Given the description of an element on the screen output the (x, y) to click on. 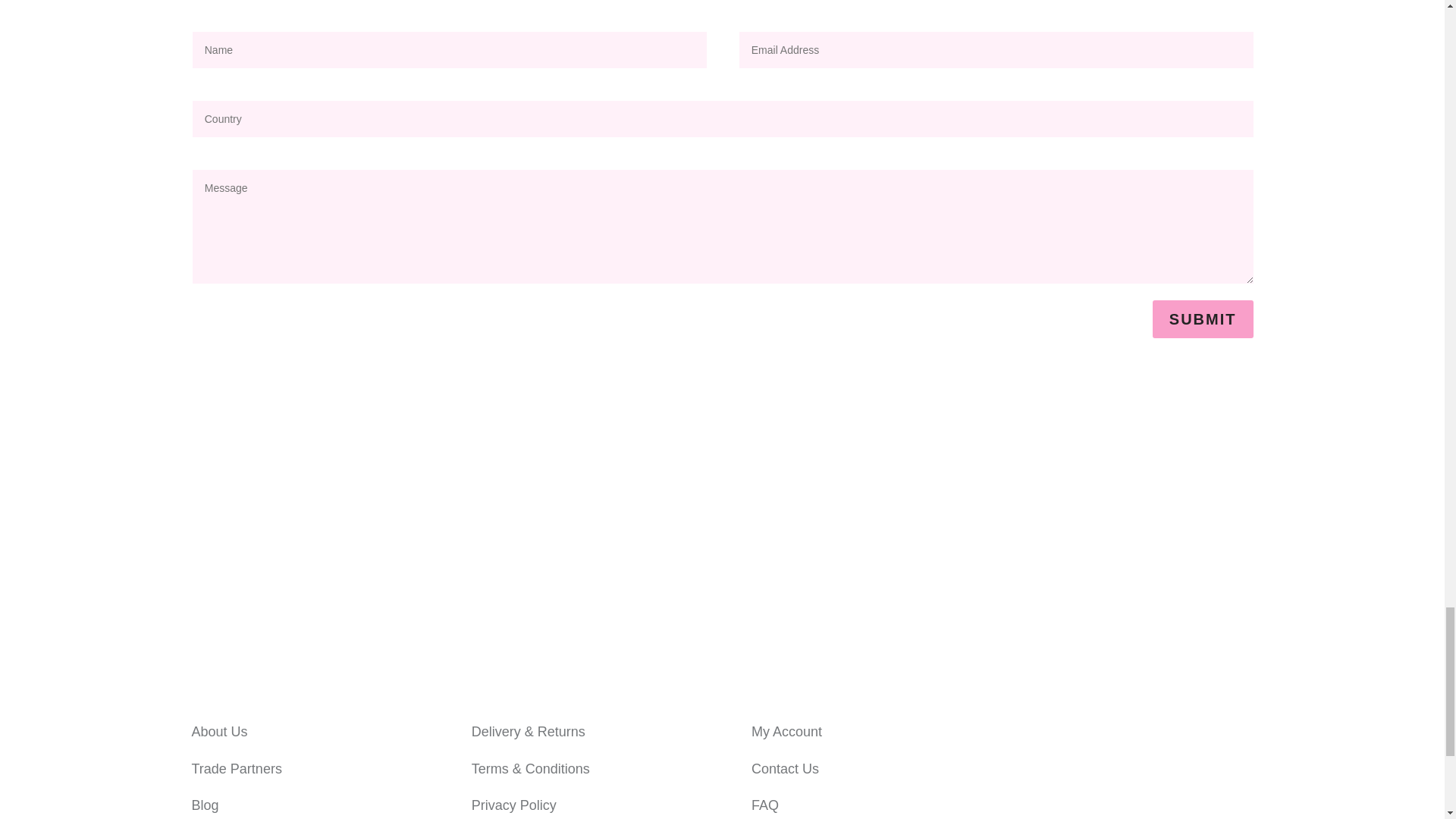
About Us (218, 731)
Follow on Pinterest (1073, 792)
Follow on Facebook (1042, 732)
Trade Partners (235, 768)
Blog (204, 805)
Follow on Instagram (1073, 732)
SUBMIT (1203, 319)
Follow on Twitter (1042, 792)
